Given the description of an element on the screen output the (x, y) to click on. 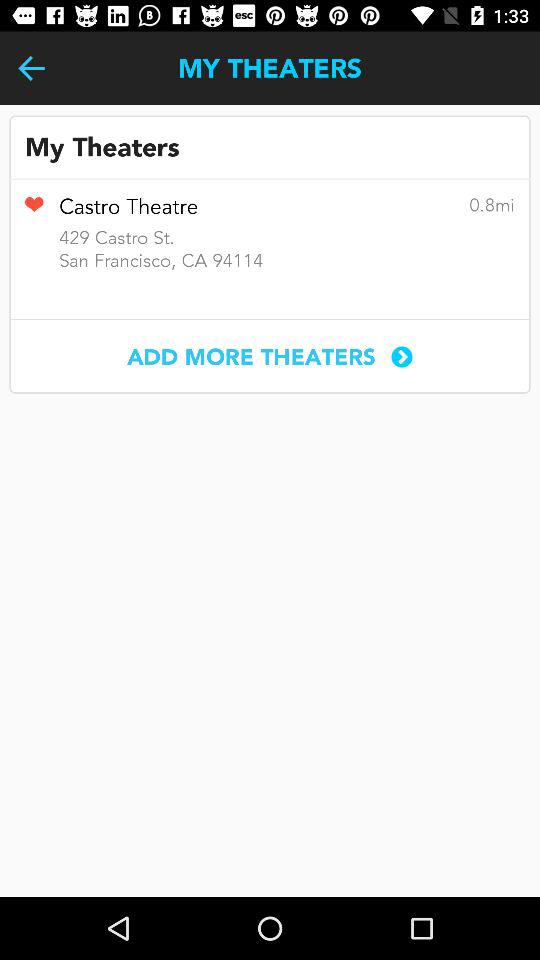
select item above san francisco ca item (34, 211)
